Given the description of an element on the screen output the (x, y) to click on. 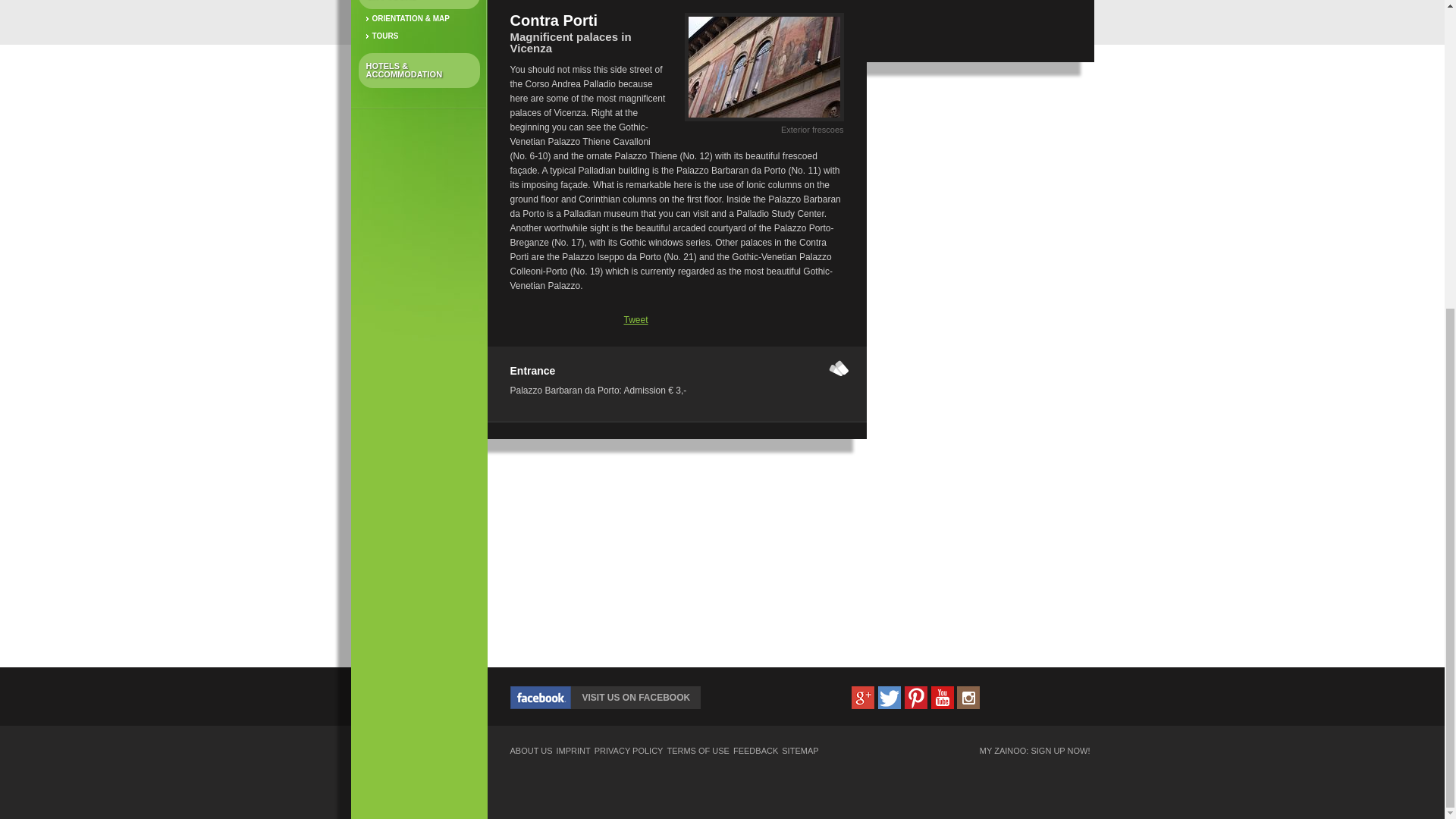
TOURS (418, 36)
Tweet (635, 319)
Exterior frescoes, Contra Porti (763, 121)
CITY TOURS (418, 4)
Advertisement (979, 190)
